Given the description of an element on the screen output the (x, y) to click on. 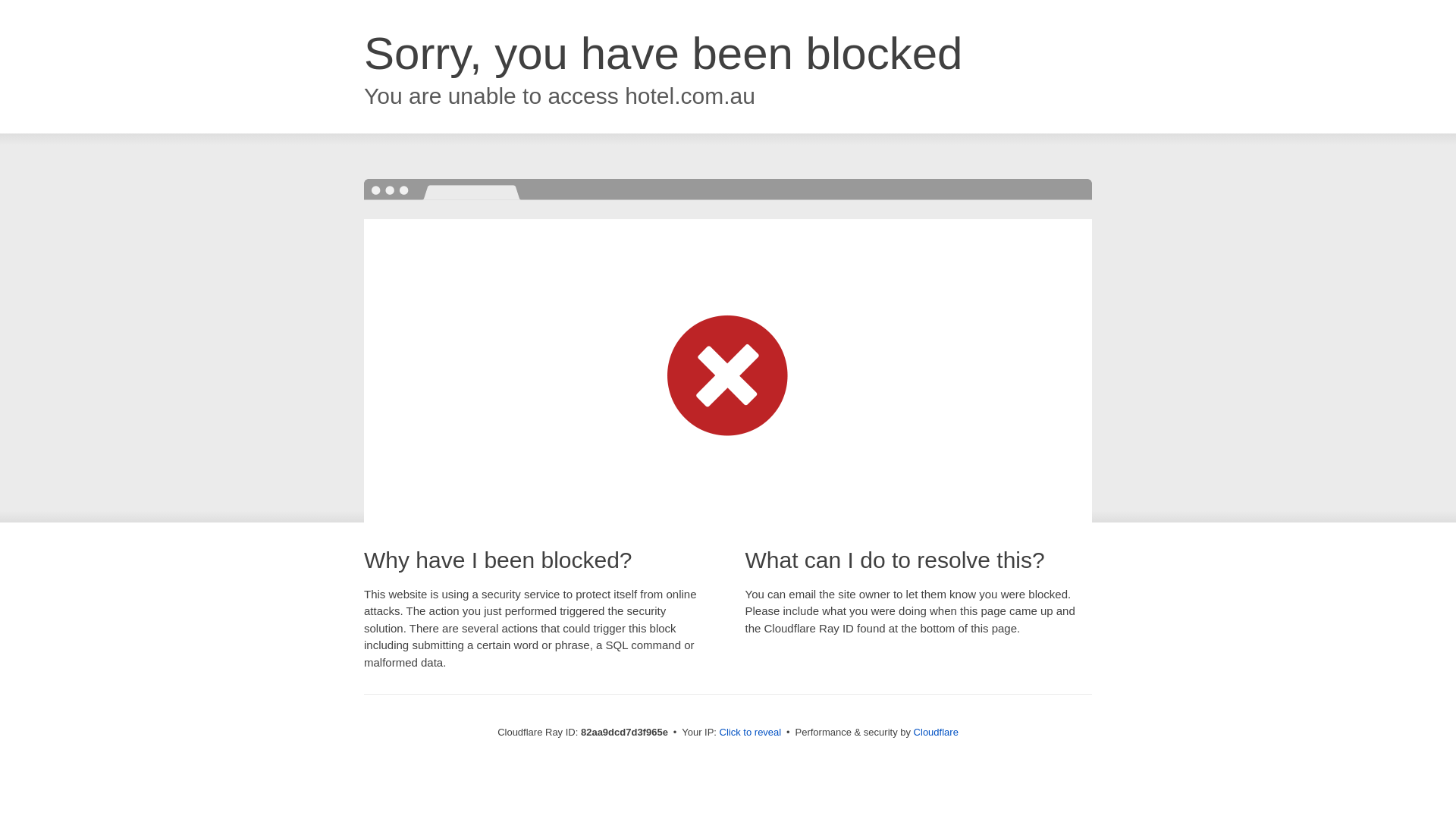
Click to reveal Element type: text (750, 732)
Cloudflare Element type: text (935, 731)
